Given the description of an element on the screen output the (x, y) to click on. 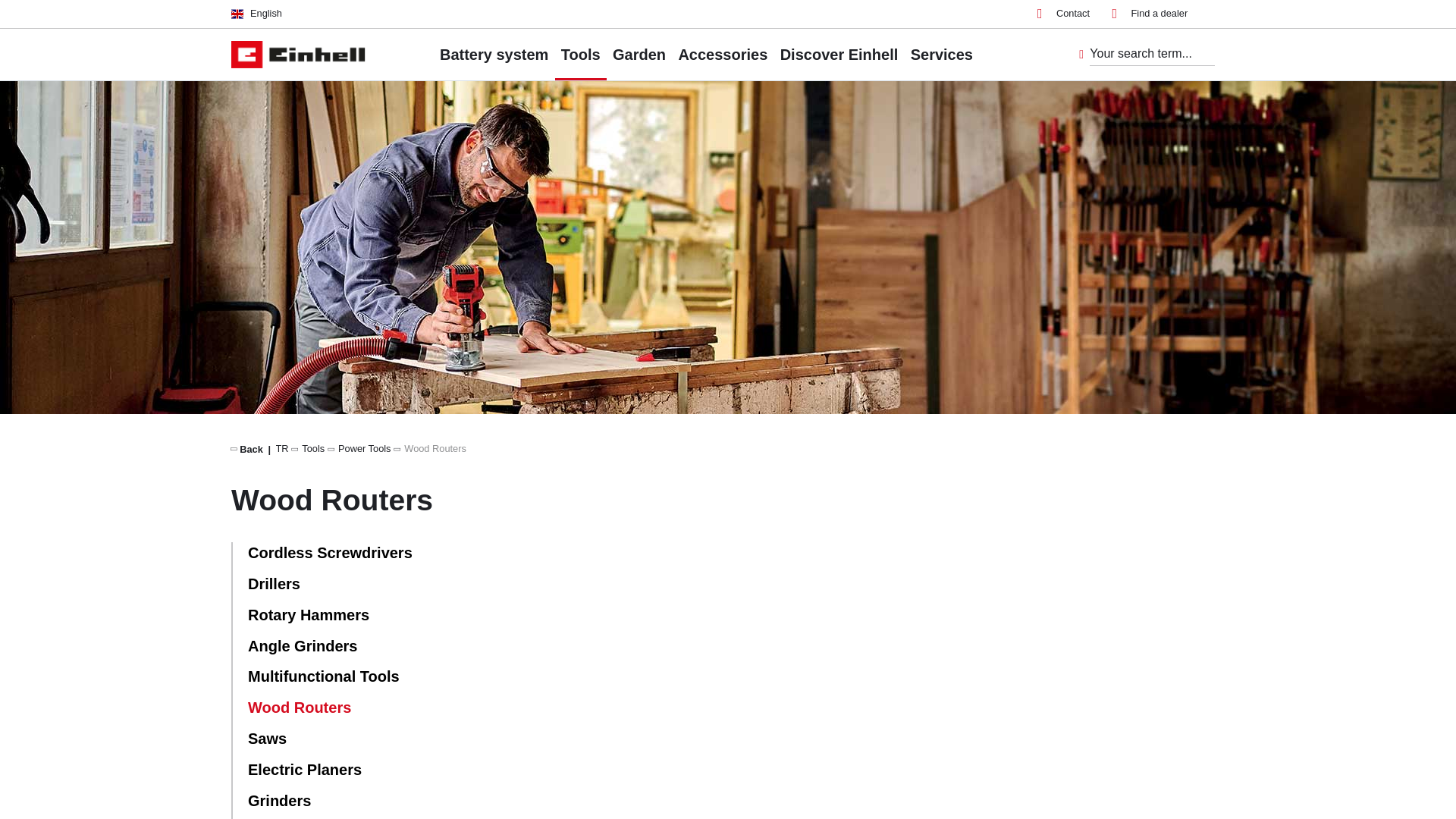
Find a dealer (1150, 13)
Battery system (493, 54)
Tools (312, 448)
Power Tools (363, 448)
TR (282, 448)
Contact (1062, 13)
